Given the description of an element on the screen output the (x, y) to click on. 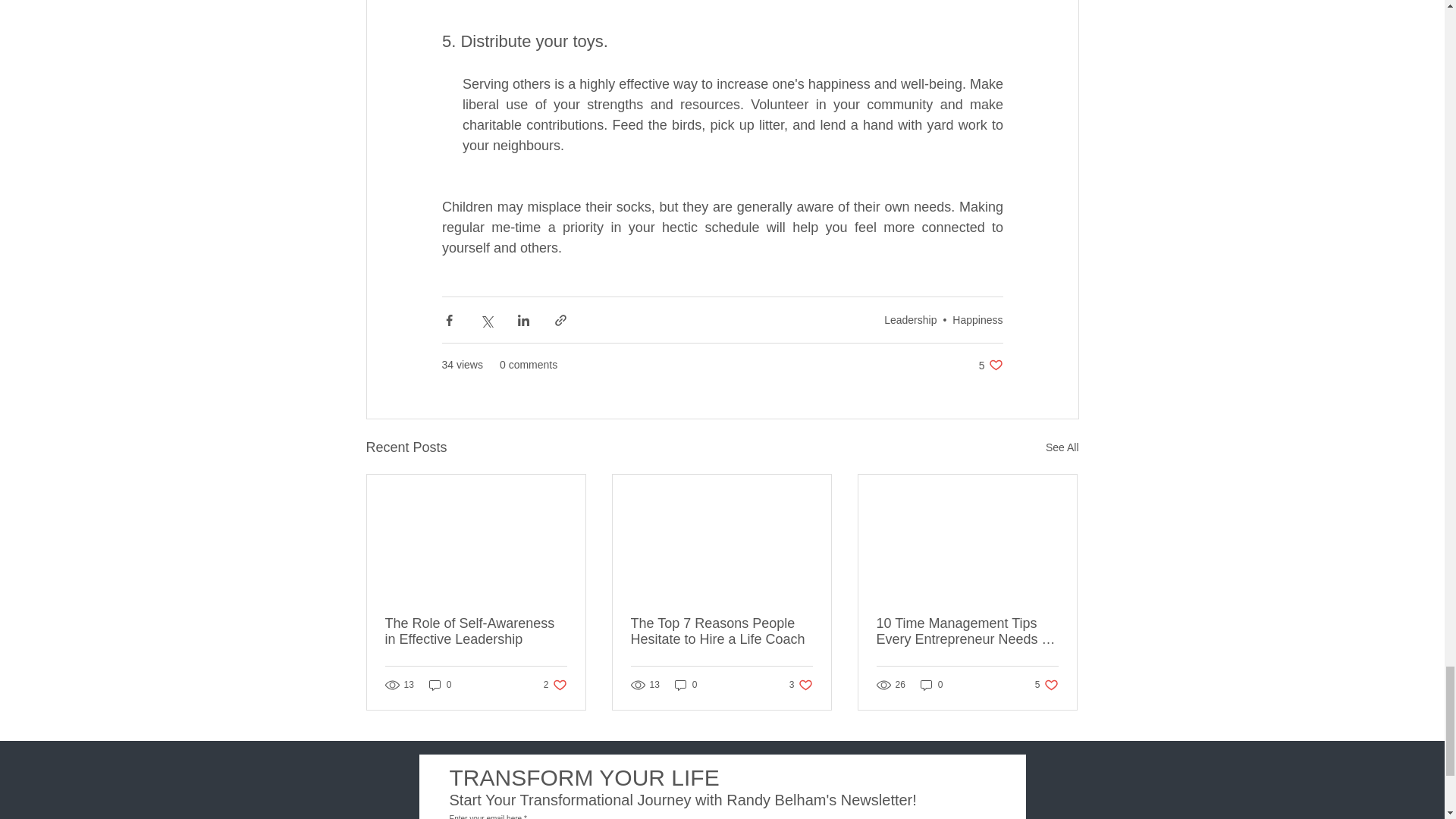
Leadership (909, 319)
The Top 7 Reasons People Hesitate to Hire a Life Coach (721, 631)
0 (440, 685)
Happiness (977, 319)
10 Time Management Tips Every Entrepreneur Needs to Know (967, 631)
0 (555, 685)
The Role of Self-Awareness in Effective Leadership (685, 685)
See All (800, 685)
